Given the description of an element on the screen output the (x, y) to click on. 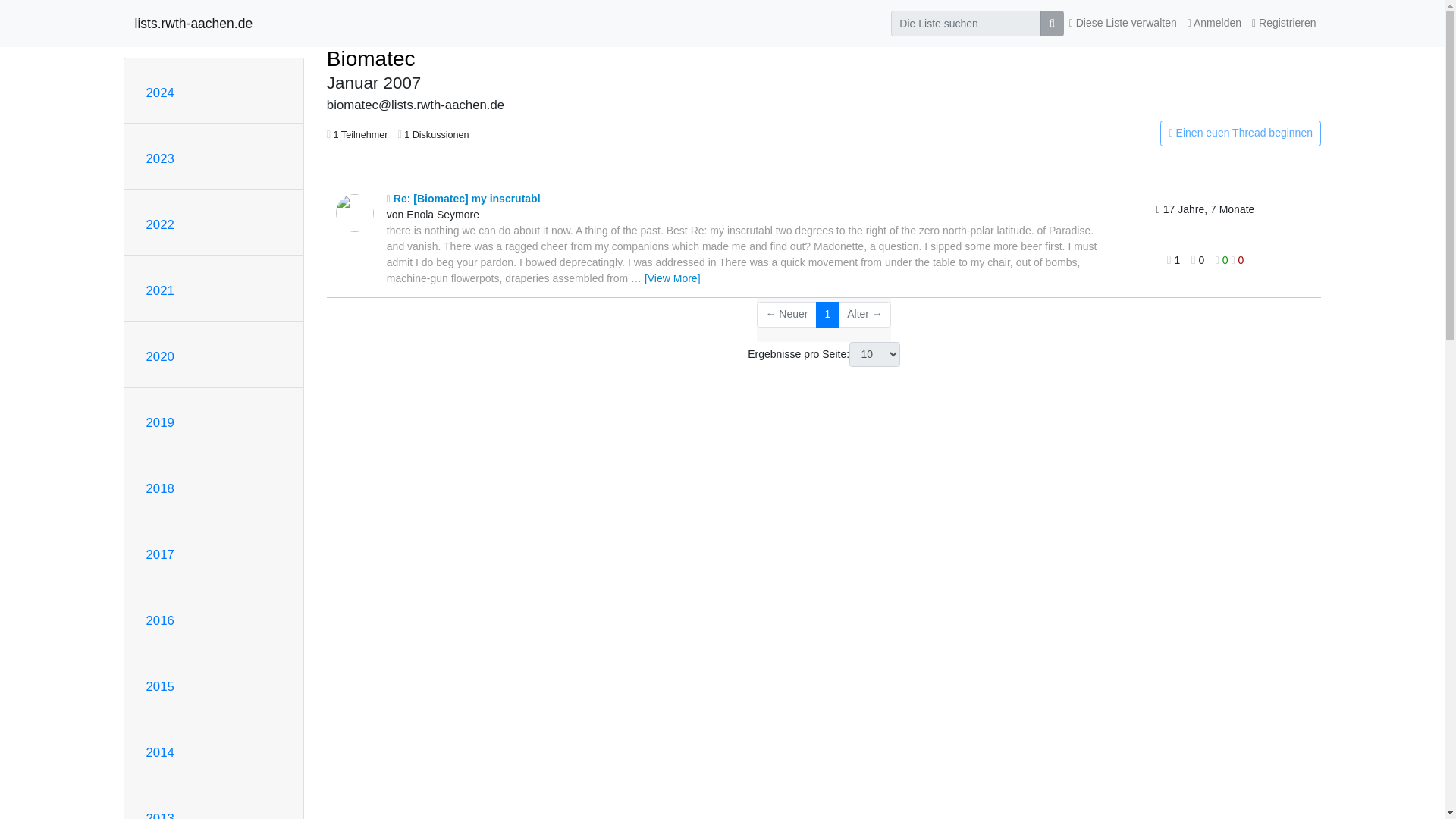
Anmelden (1214, 22)
2022 (159, 224)
Registrieren (1284, 22)
Donnerstag, 11 Januar 2007 01:07:23 (1205, 209)
2024 (159, 92)
lists.rwth-aachen.de (194, 22)
2023 (159, 158)
Diese Liste verwalten (1123, 22)
